Given the description of an element on the screen output the (x, y) to click on. 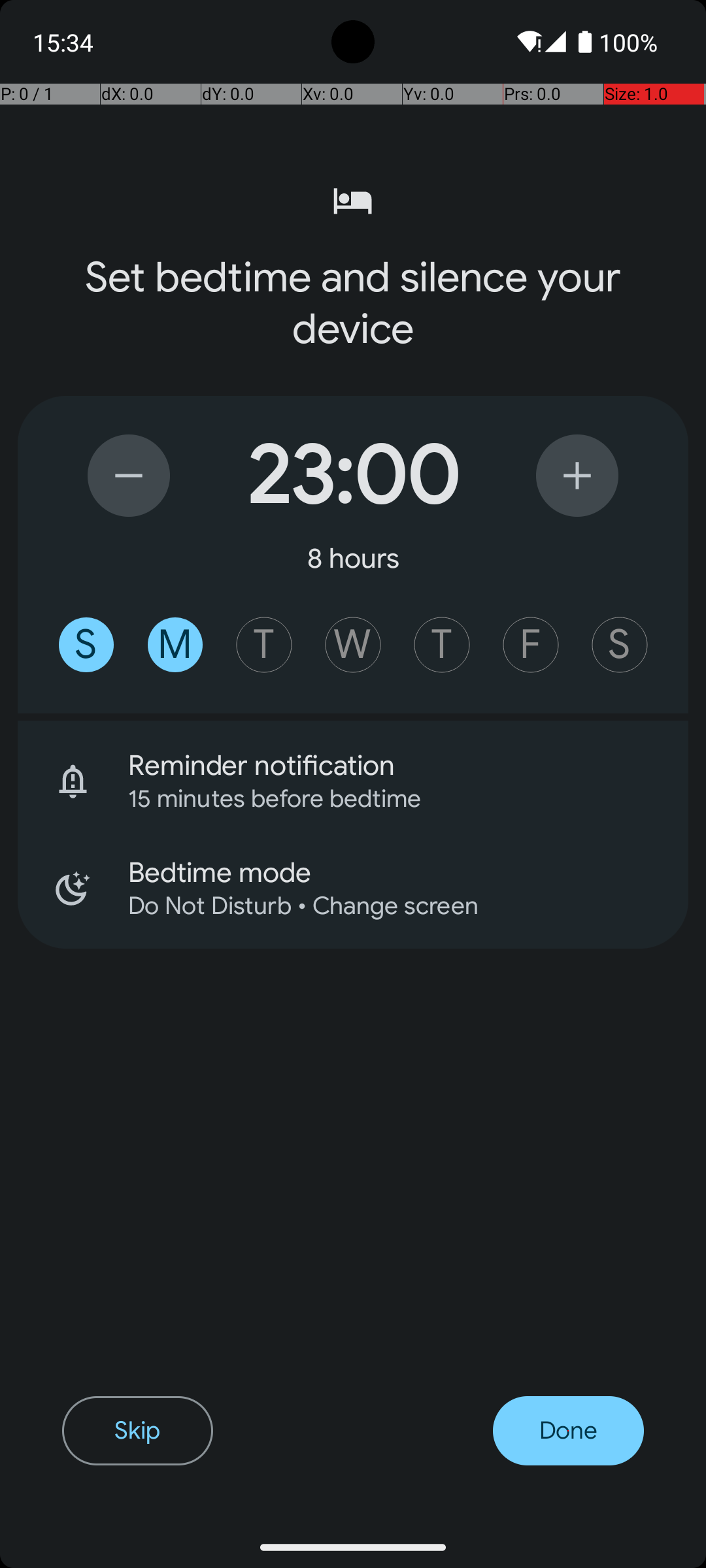
Set bedtime and silence your device Element type: android.widget.TextView (352, 302)
Fifteen minutes earlier Element type: android.widget.ImageView (128, 475)
23:00 Element type: android.widget.TextView (353, 475)
Fifteen minutes later Element type: android.widget.ImageView (577, 475)
8 hours Element type: android.widget.TextView (353, 558)
Skip Element type: android.widget.Button (137, 1430)
Reminder notification Element type: android.widget.TextView (408, 765)
15 minutes before bedtime Element type: android.widget.TextView (390, 798)
Bedtime mode Element type: android.widget.TextView (408, 872)
Do Not Disturb • Change screen Element type: android.widget.TextView (390, 905)
